Given the description of an element on the screen output the (x, y) to click on. 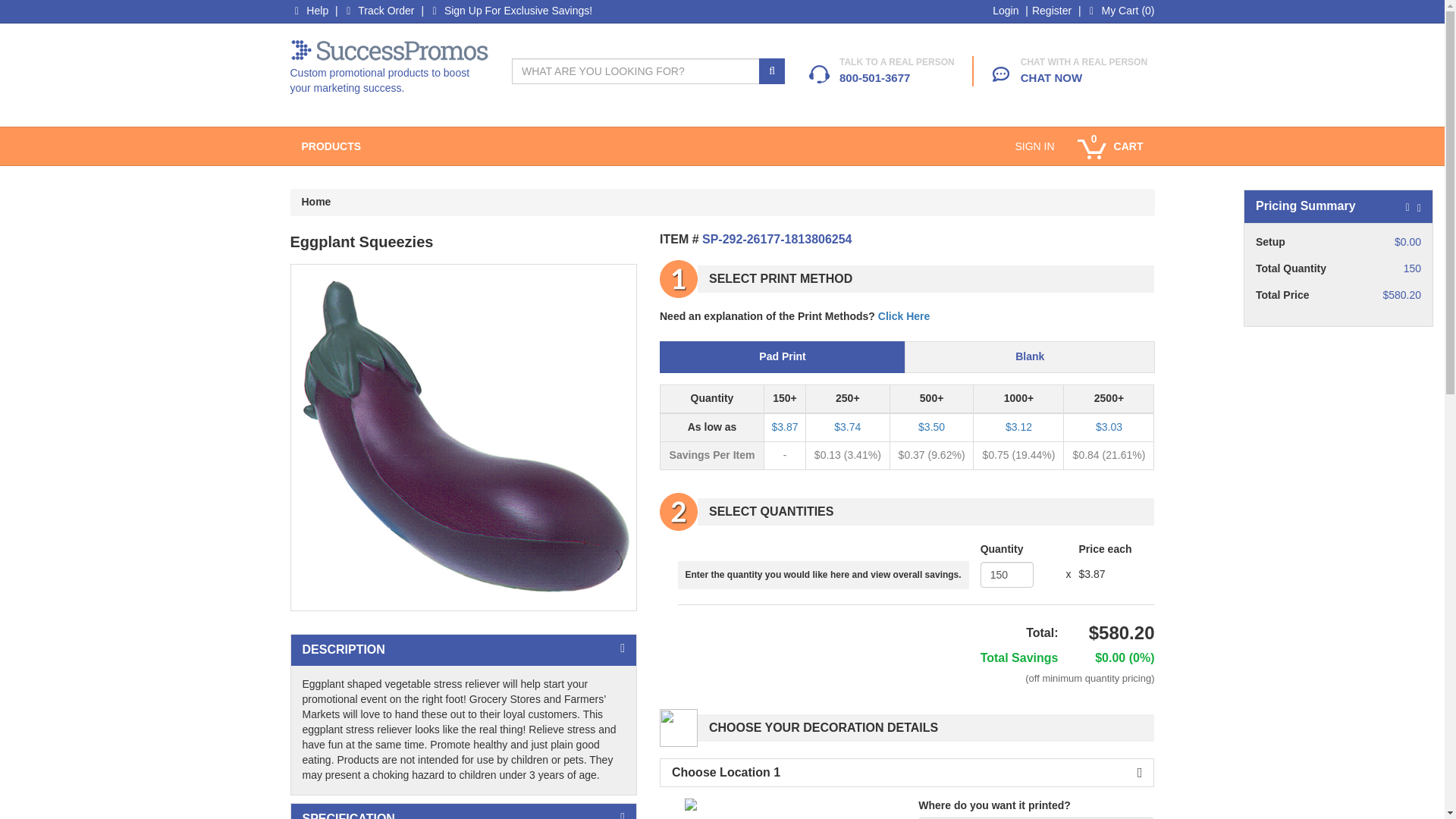
Sign Up For Exclusive Savings! (510, 10)
150 (1006, 574)
CHAT NOW (1050, 77)
PRODUCTS (330, 146)
Login (1004, 10)
Register (1051, 10)
Help (309, 10)
800-501-3677 (875, 77)
Track Order (378, 10)
